Given the description of an element on the screen output the (x, y) to click on. 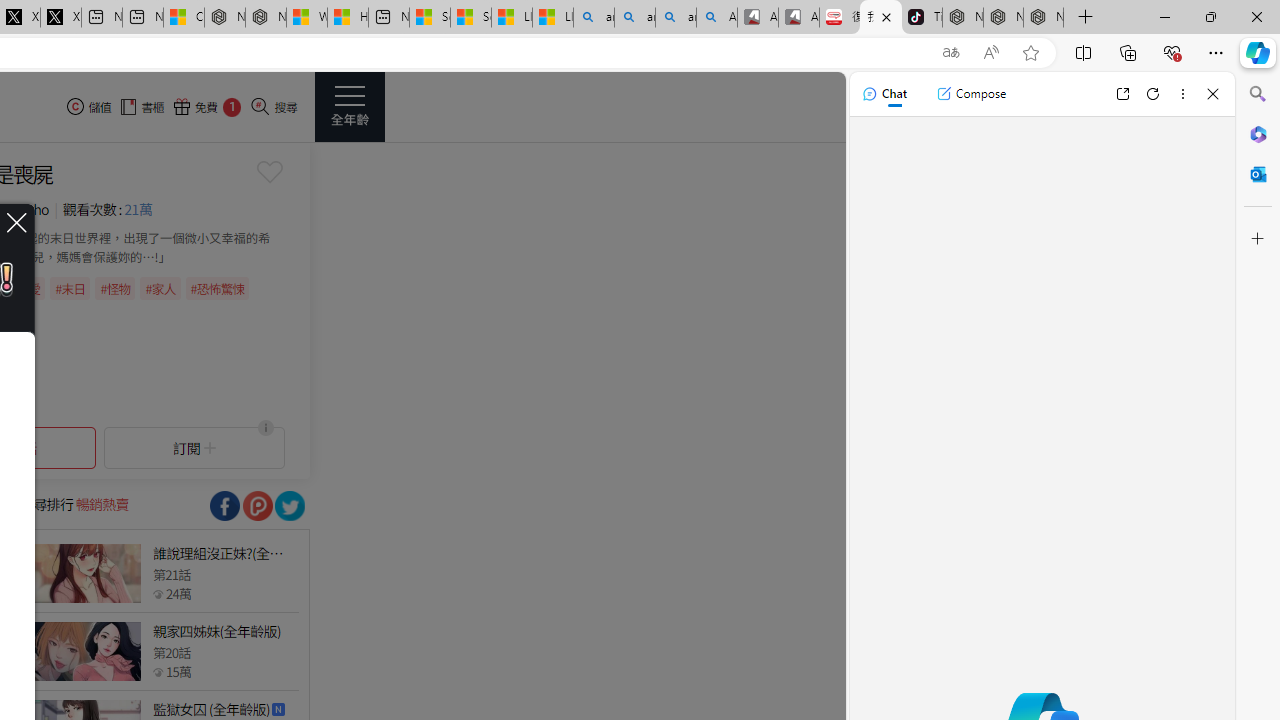
Show translate options (950, 53)
Nordace - Best Sellers (963, 17)
Class: thumb_img (85, 651)
Outlook (1258, 174)
Class: socialShare (289, 506)
